Given the description of an element on the screen output the (x, y) to click on. 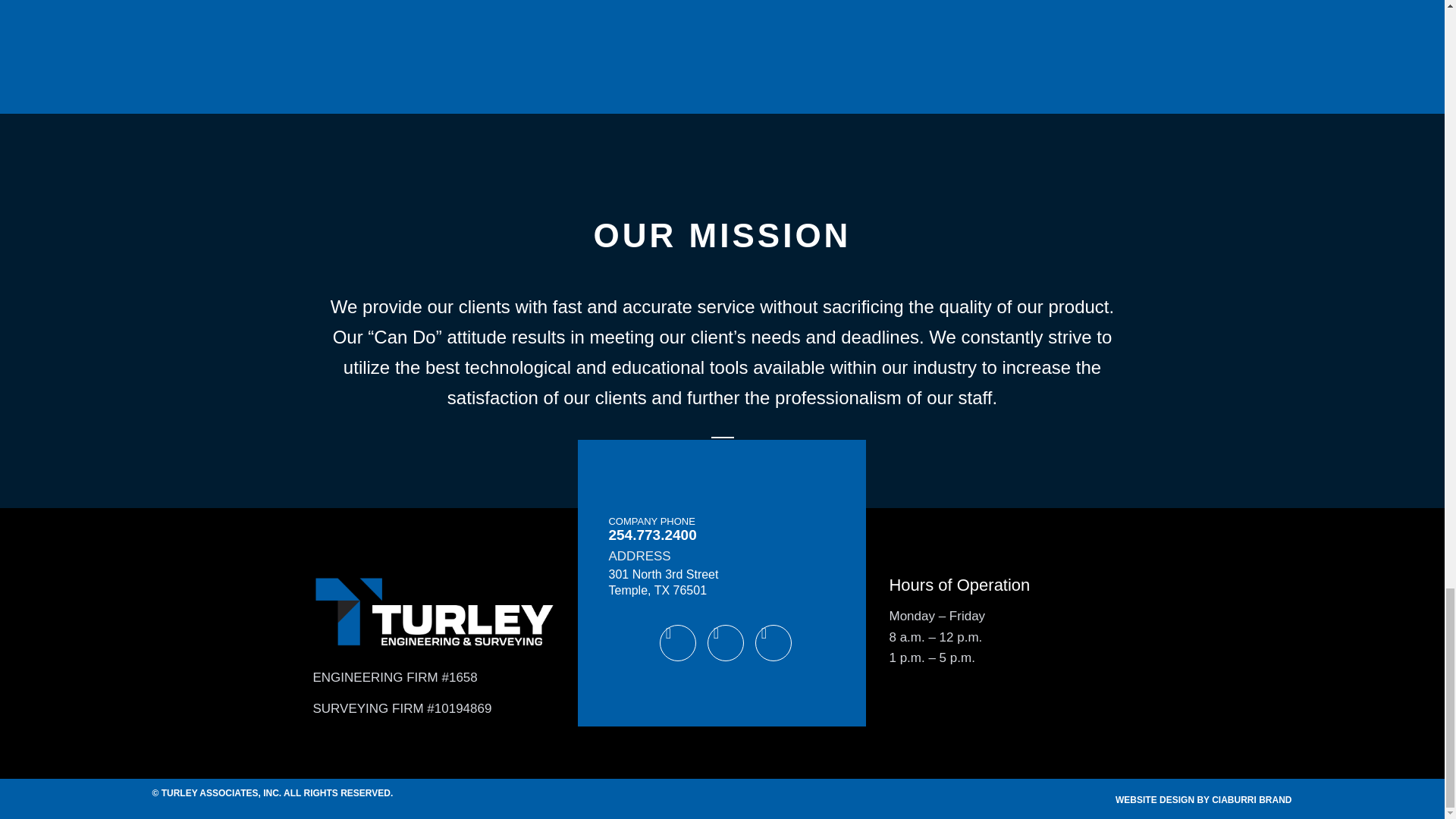
WEBSITE DESIGN BY CIABURRI BRAND (1203, 799)
ADDRESS (638, 555)
